Given the description of an element on the screen output the (x, y) to click on. 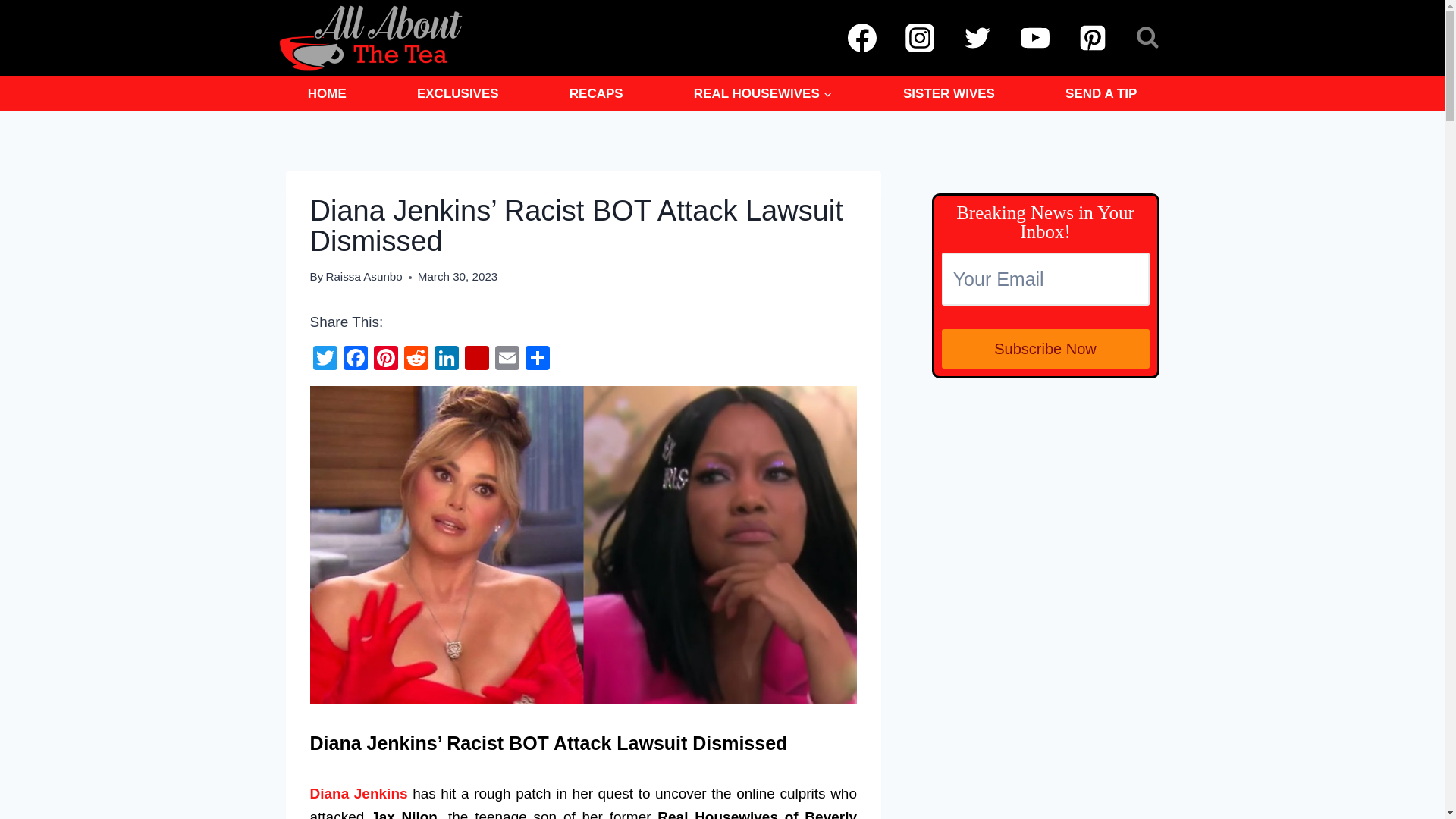
Flipboard (476, 359)
EXCLUSIVES (457, 93)
LinkedIn (445, 359)
LinkedIn (445, 359)
SISTER WIVES (948, 93)
SEND A TIP (1100, 93)
Reddit (415, 359)
Facebook (354, 359)
Twitter (323, 359)
Reddit (415, 359)
